Given the description of an element on the screen output the (x, y) to click on. 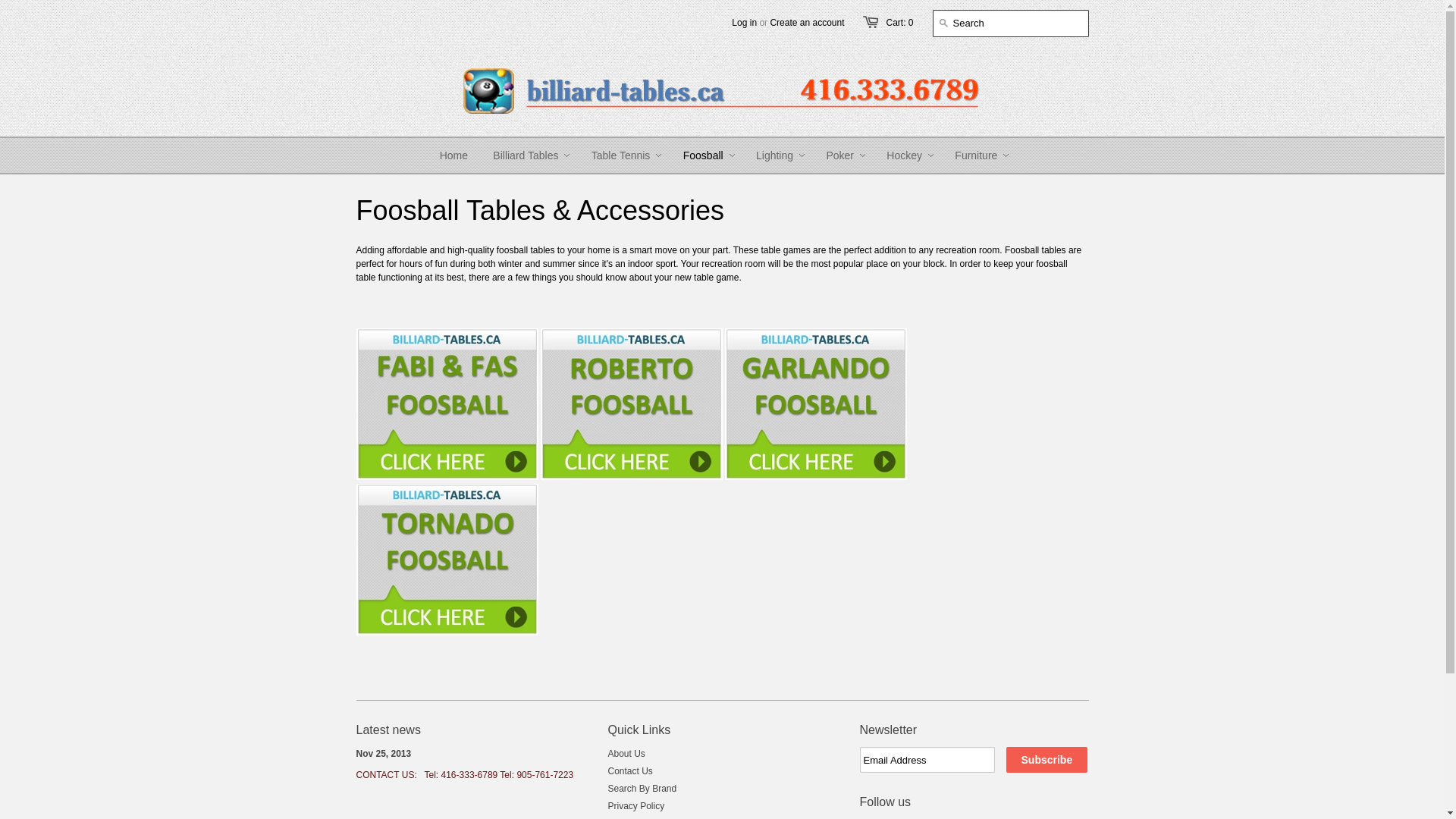
Create an account Element type: text (806, 22)
Latest news Element type: text (388, 729)
Lighting Element type: text (774, 155)
Hockey Element type: text (904, 155)
Nov 25, 2013 Element type: text (383, 753)
About Us Element type: text (626, 753)
Contact Us Element type: text (630, 770)
Home Element type: text (453, 155)
Cart: 0 Element type: text (899, 22)
Table Tennis Element type: text (621, 155)
Search By Brand Element type: text (642, 788)
Billiard Tables Element type: text (525, 155)
Furniture Element type: text (975, 155)
Foosball Element type: text (702, 155)
Poker Element type: text (839, 155)
Privacy Policy Element type: text (636, 805)
Subscribe Element type: text (1046, 759)
Log in Element type: text (743, 22)
